Given the description of an element on the screen output the (x, y) to click on. 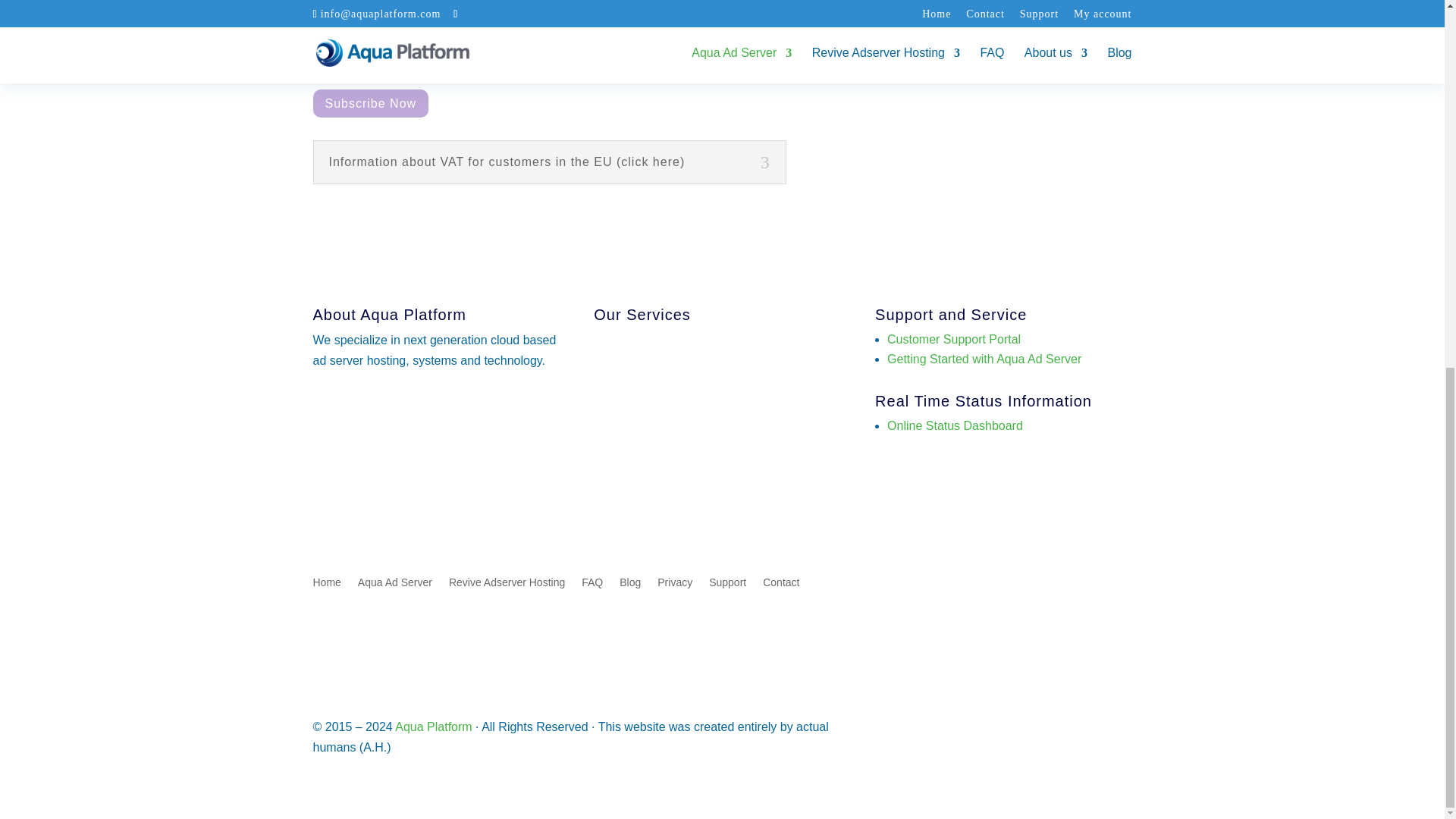
Home (326, 585)
Online Status Dashboard (954, 425)
Aqua Ad Server (395, 585)
Customer Support Portal (953, 338)
Getting Started with Aqua Ad Server (983, 358)
Subscribe Now (370, 103)
